Given the description of an element on the screen output the (x, y) to click on. 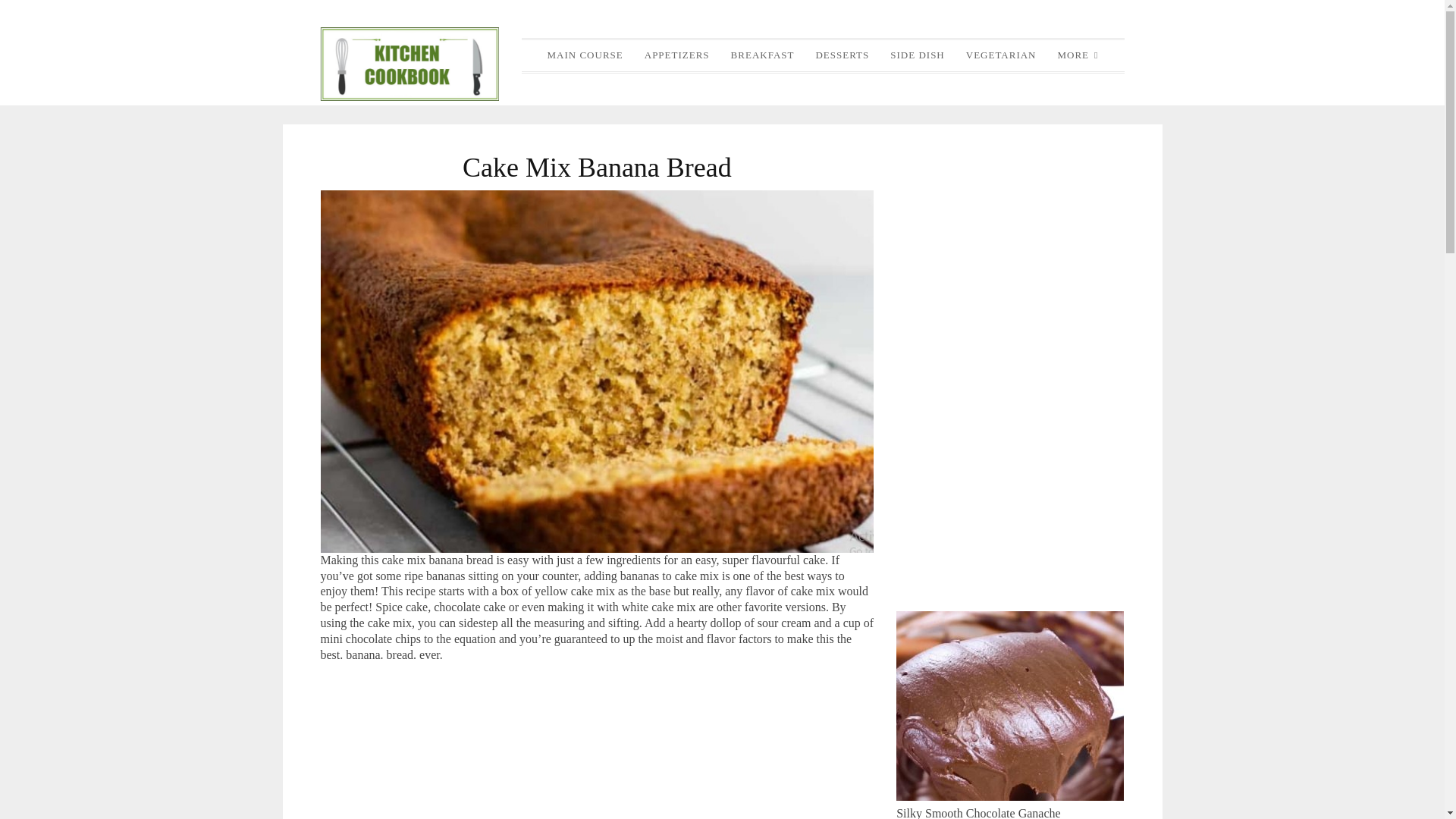
APPETIZERS (677, 55)
SIDE DISH (916, 55)
Advertisement (1010, 351)
MORE (1077, 55)
Advertisement (596, 749)
BREAKFAST (762, 55)
VEGETARIAN (1001, 55)
DESSERTS (842, 55)
MAIN COURSE (585, 55)
